Given the description of an element on the screen output the (x, y) to click on. 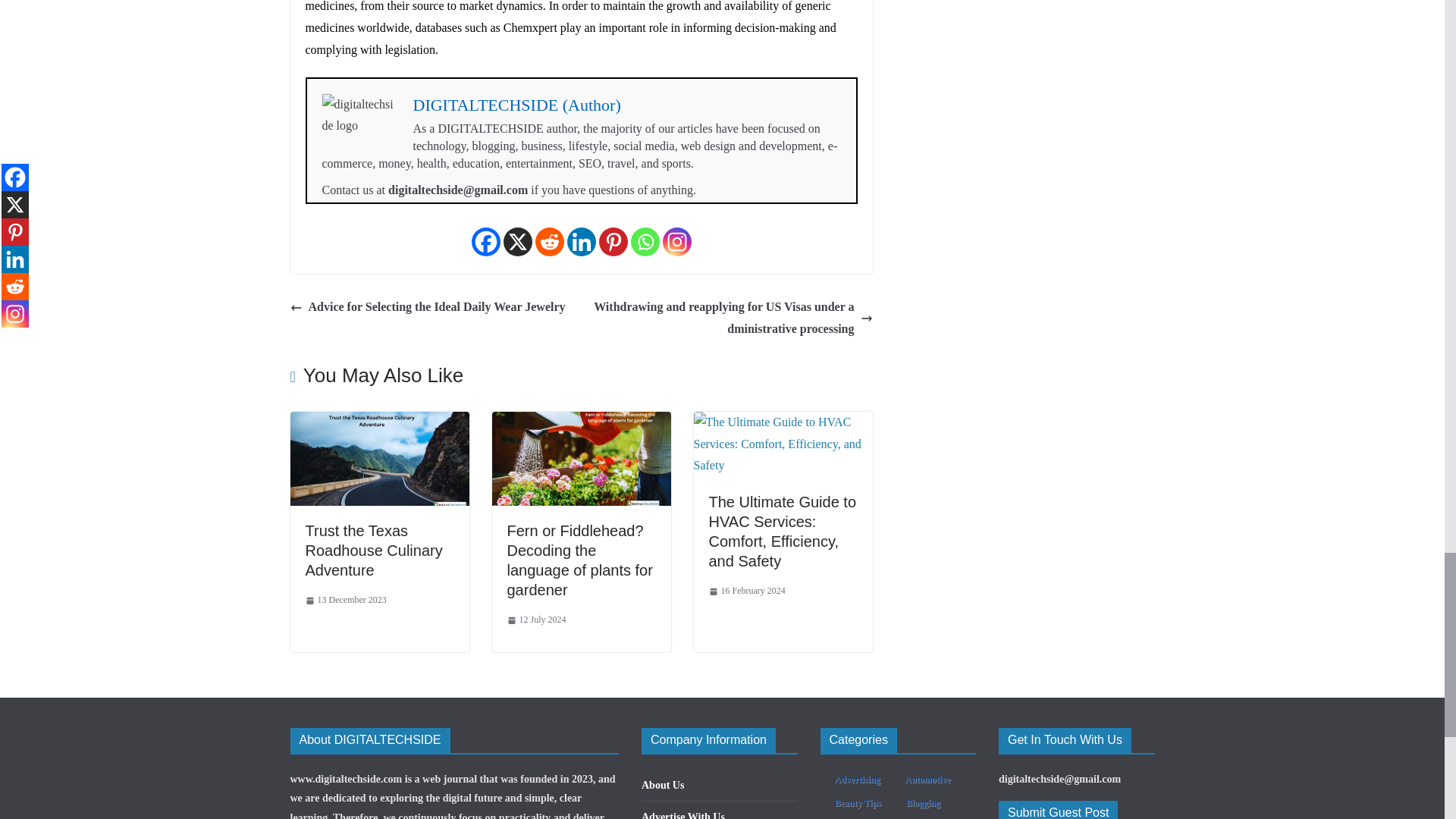
Instagram (676, 241)
Linkedin (581, 241)
Whatsapp (644, 241)
X (517, 241)
Reddit (549, 241)
Facebook (485, 241)
Pinterest (612, 241)
